Given the description of an element on the screen output the (x, y) to click on. 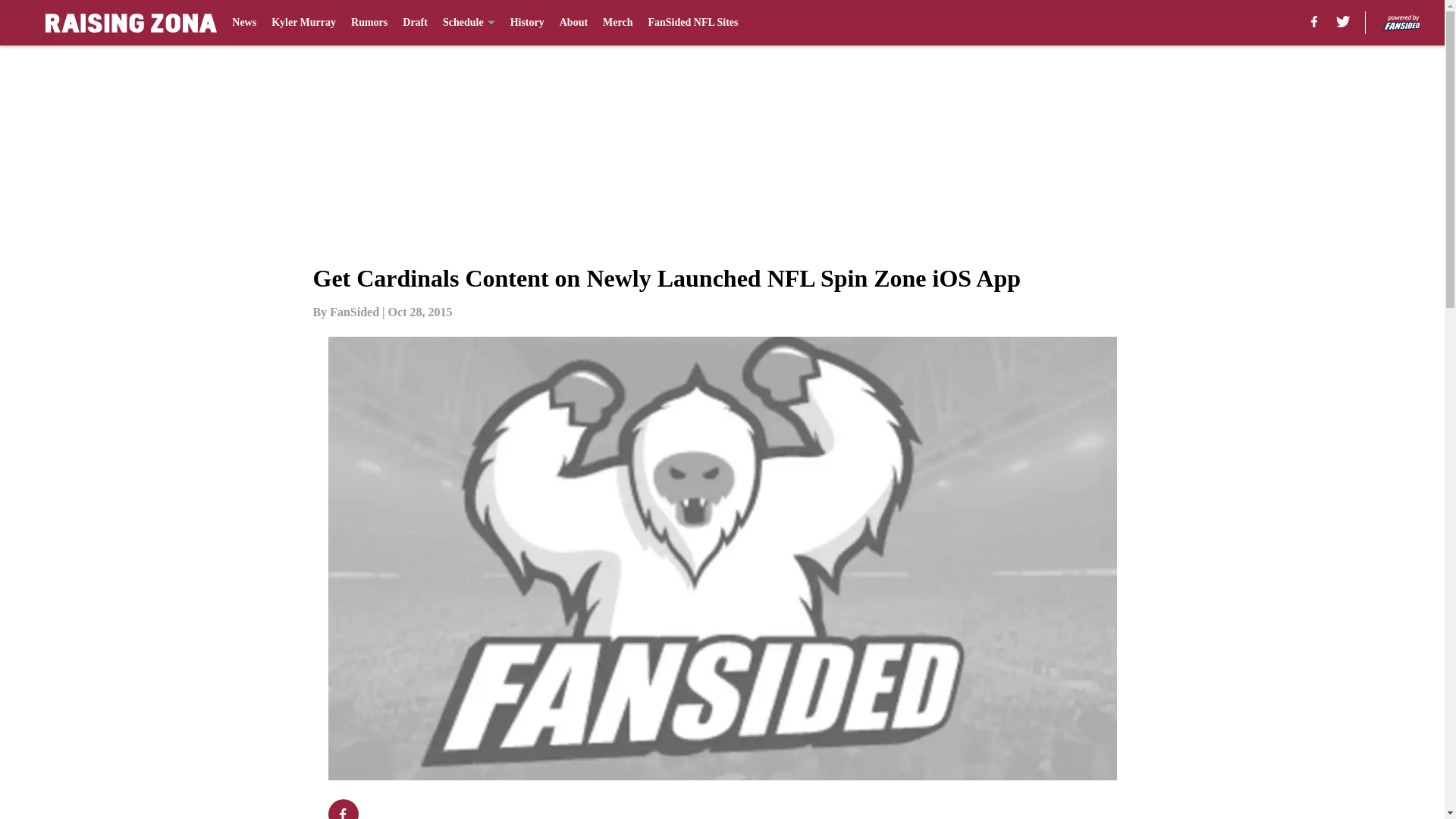
Merch (616, 22)
Rumors (368, 22)
News (243, 22)
About (573, 22)
Kyler Murray (303, 22)
FanSided NFL Sites (692, 22)
History (527, 22)
Draft (415, 22)
